Given the description of an element on the screen output the (x, y) to click on. 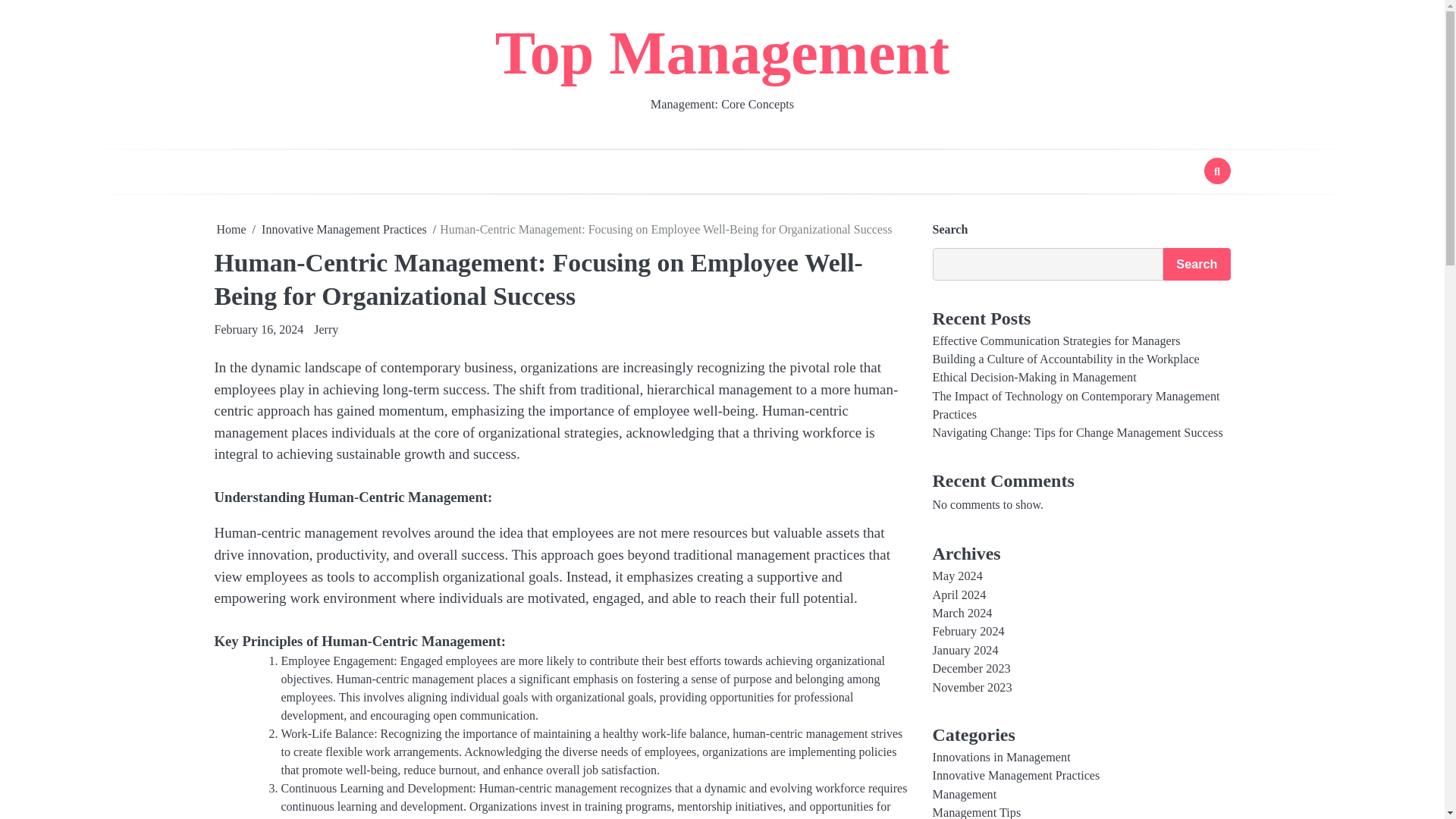
November 2023 (972, 687)
Navigating Change: Tips for Change Management Success (1078, 432)
Management (965, 794)
Innovative Management Practices (1016, 775)
Building a Culture of Accountability in the Workplace (1066, 359)
Home (231, 228)
Management Tips (977, 812)
February 16, 2024 (258, 328)
Effective Communication Strategies for Managers (1056, 341)
